Given the description of an element on the screen output the (x, y) to click on. 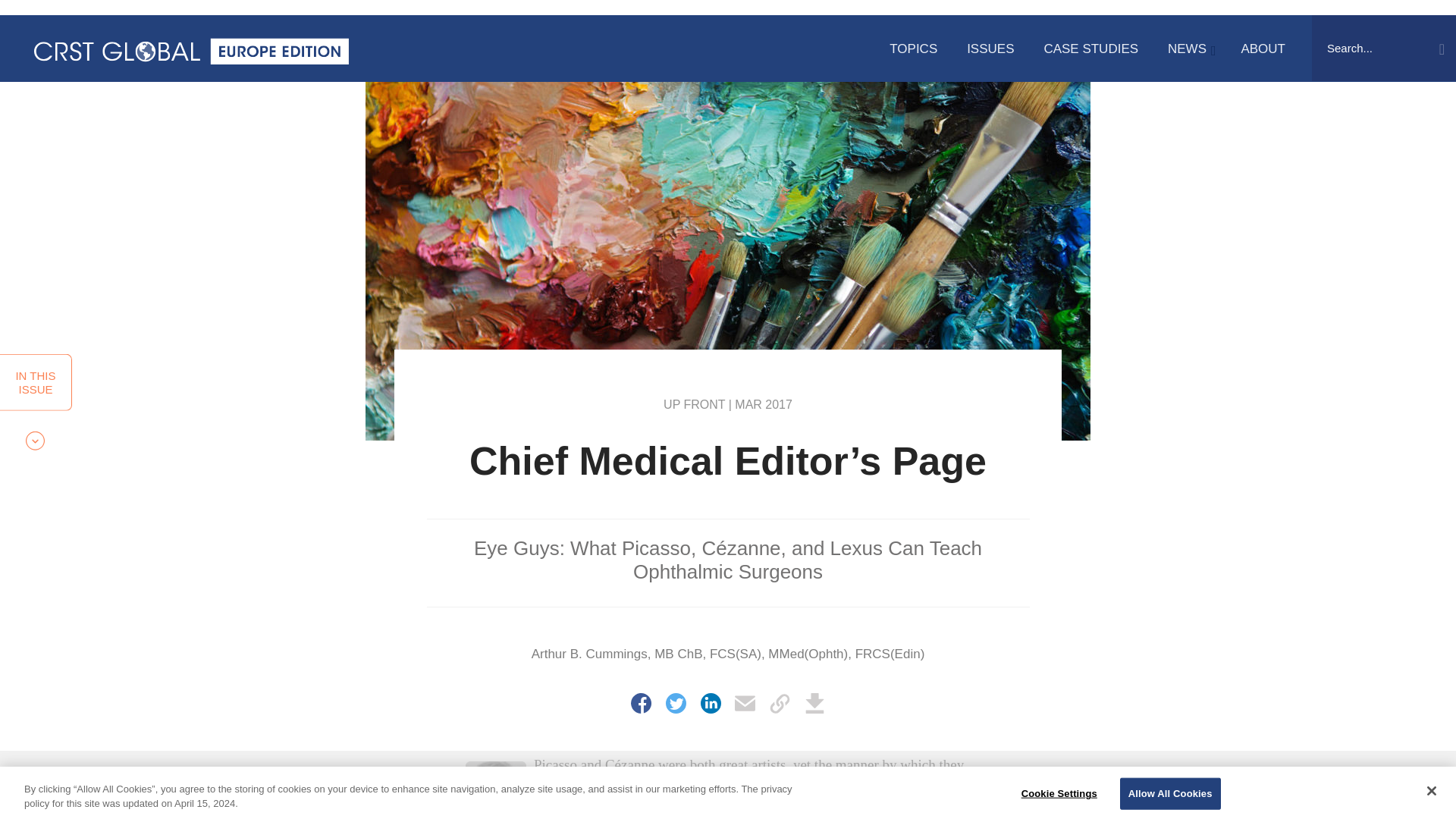
TOPICS (913, 48)
NEWS (1189, 48)
ABOUT (1262, 48)
ISSUES (989, 48)
CASE STUDIES (1090, 48)
